Given the description of an element on the screen output the (x, y) to click on. 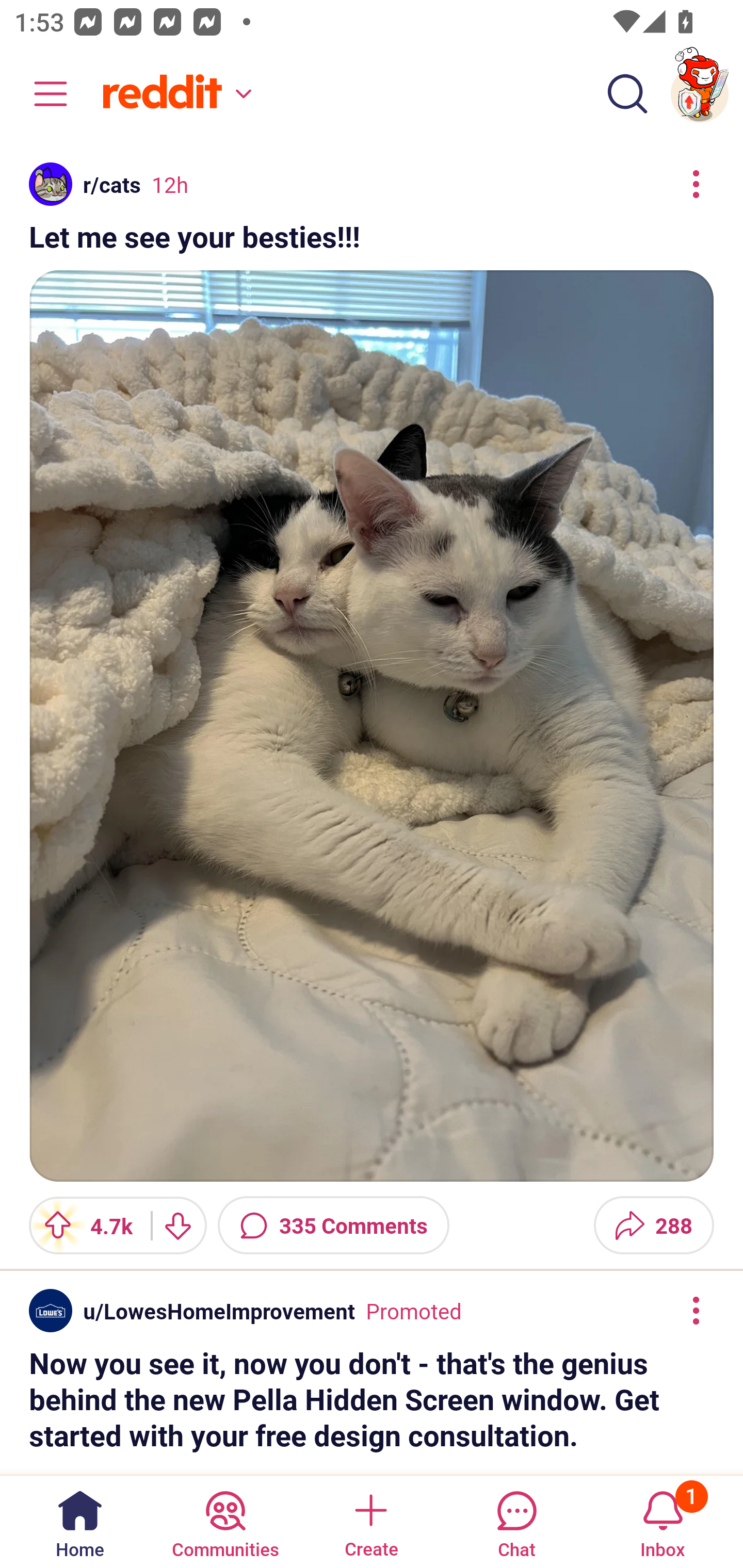
Search (626, 93)
TestAppium002 account (699, 93)
Community menu (41, 94)
Home feed (173, 94)
Home (80, 1520)
Communities (225, 1520)
Create a post Create (370, 1520)
Chat (516, 1520)
Inbox, has 1 notification 1 Inbox (662, 1520)
